Given the description of an element on the screen output the (x, y) to click on. 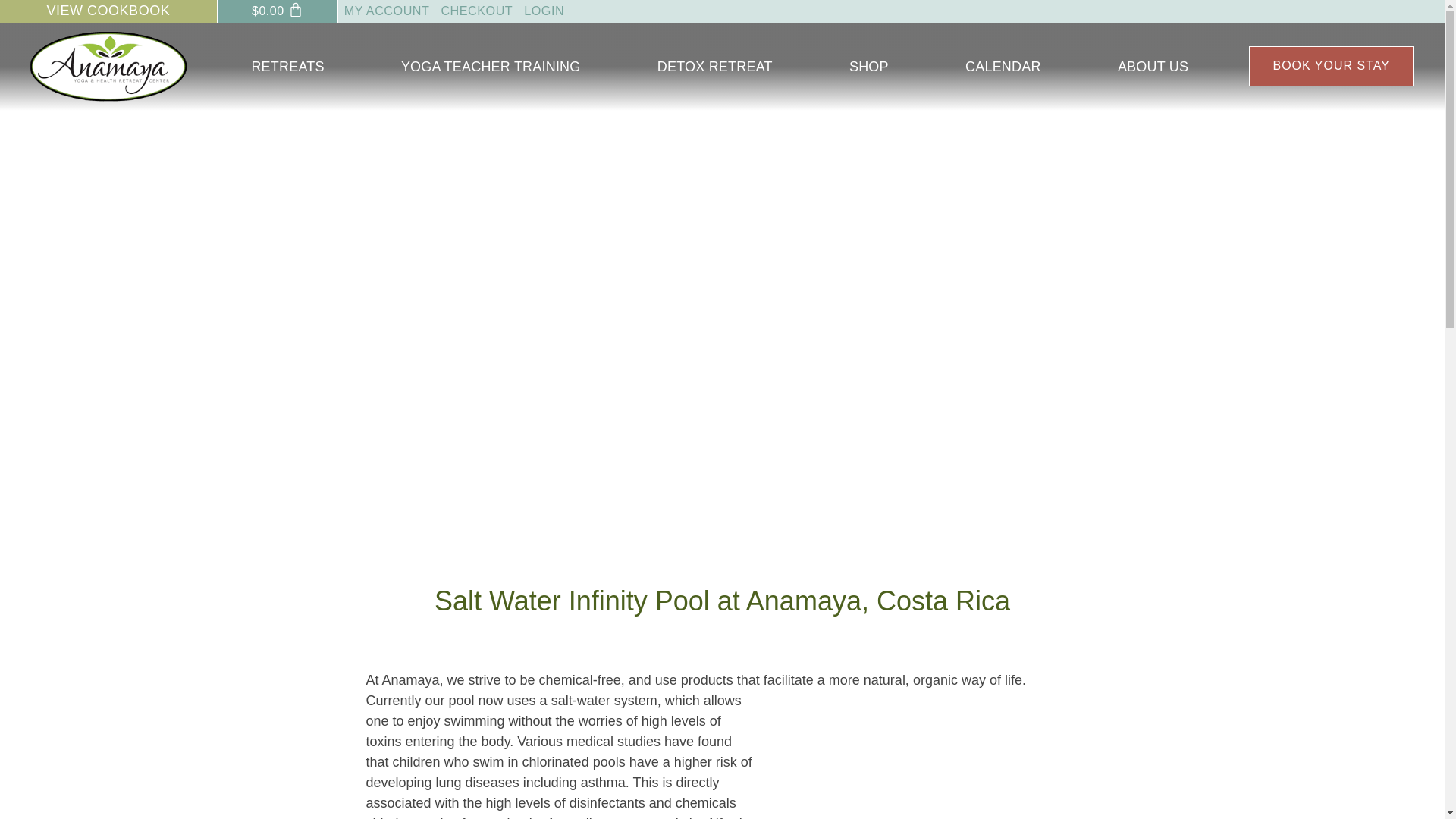
MY ACCOUNT (386, 11)
CHECKOUT (476, 11)
VIEW COOKBOOK (108, 10)
LOGIN (544, 11)
